Given the description of an element on the screen output the (x, y) to click on. 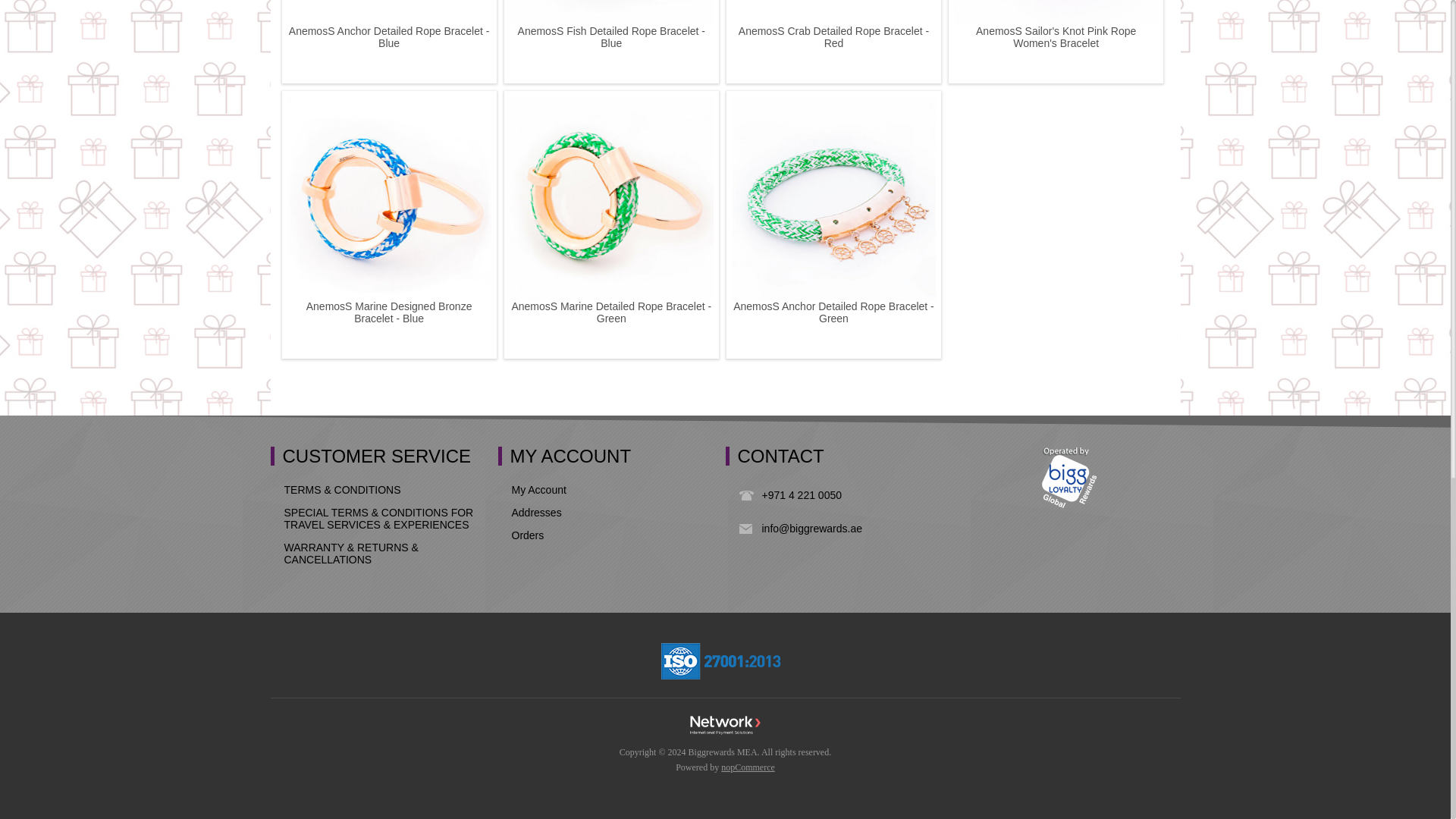
media.product.imagelinktitleformat (388, 12)
